Given the description of an element on the screen output the (x, y) to click on. 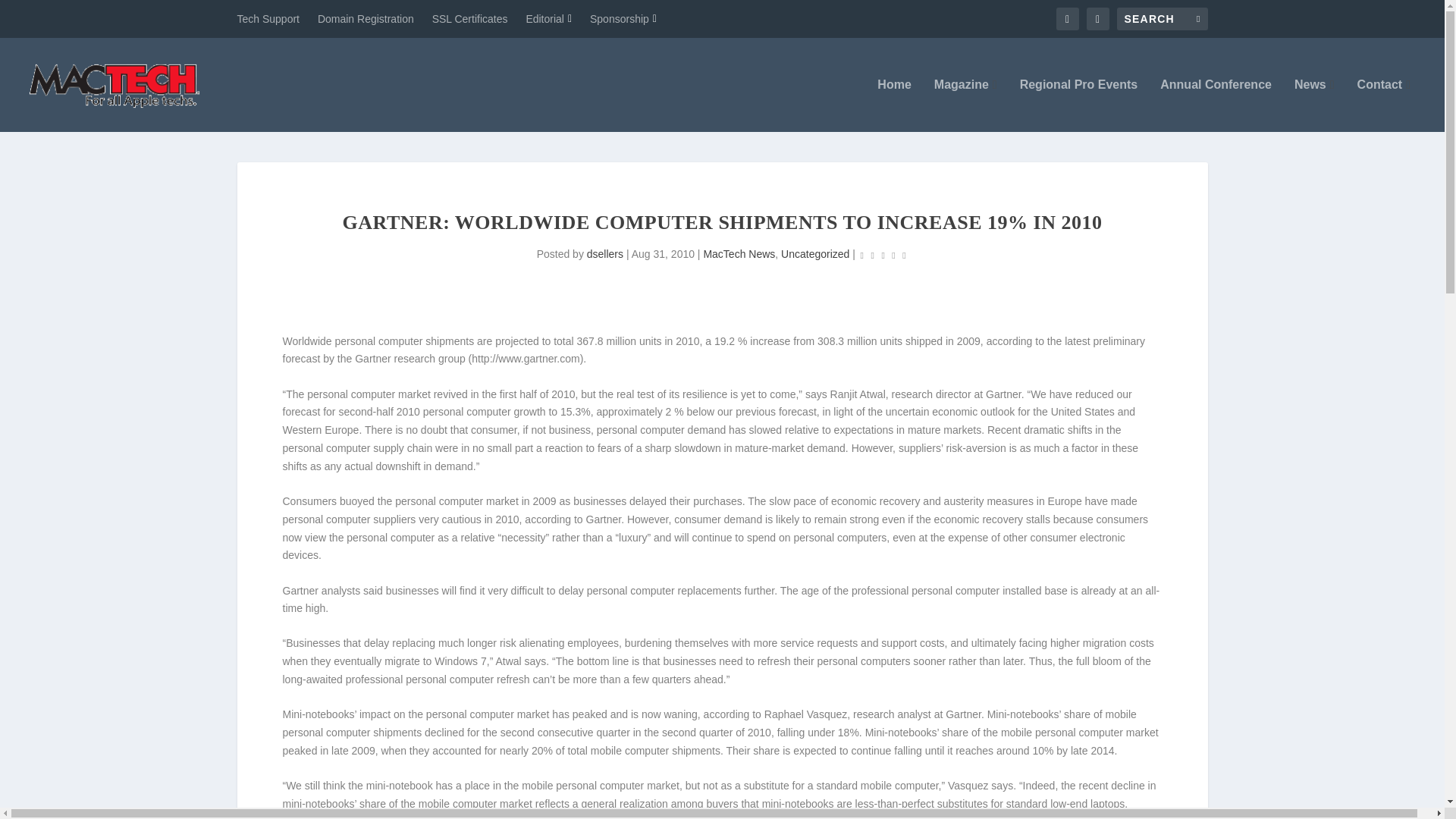
Regional Pro Events (1079, 104)
SSL Certificates (470, 18)
Rating: 0.00 (883, 254)
Search for: (1161, 18)
Editorial (548, 18)
Tech Support (267, 18)
Annual Conference (1215, 104)
Sponsorship (622, 18)
Contact (1383, 104)
Magazine (965, 104)
